Given the description of an element on the screen output the (x, y) to click on. 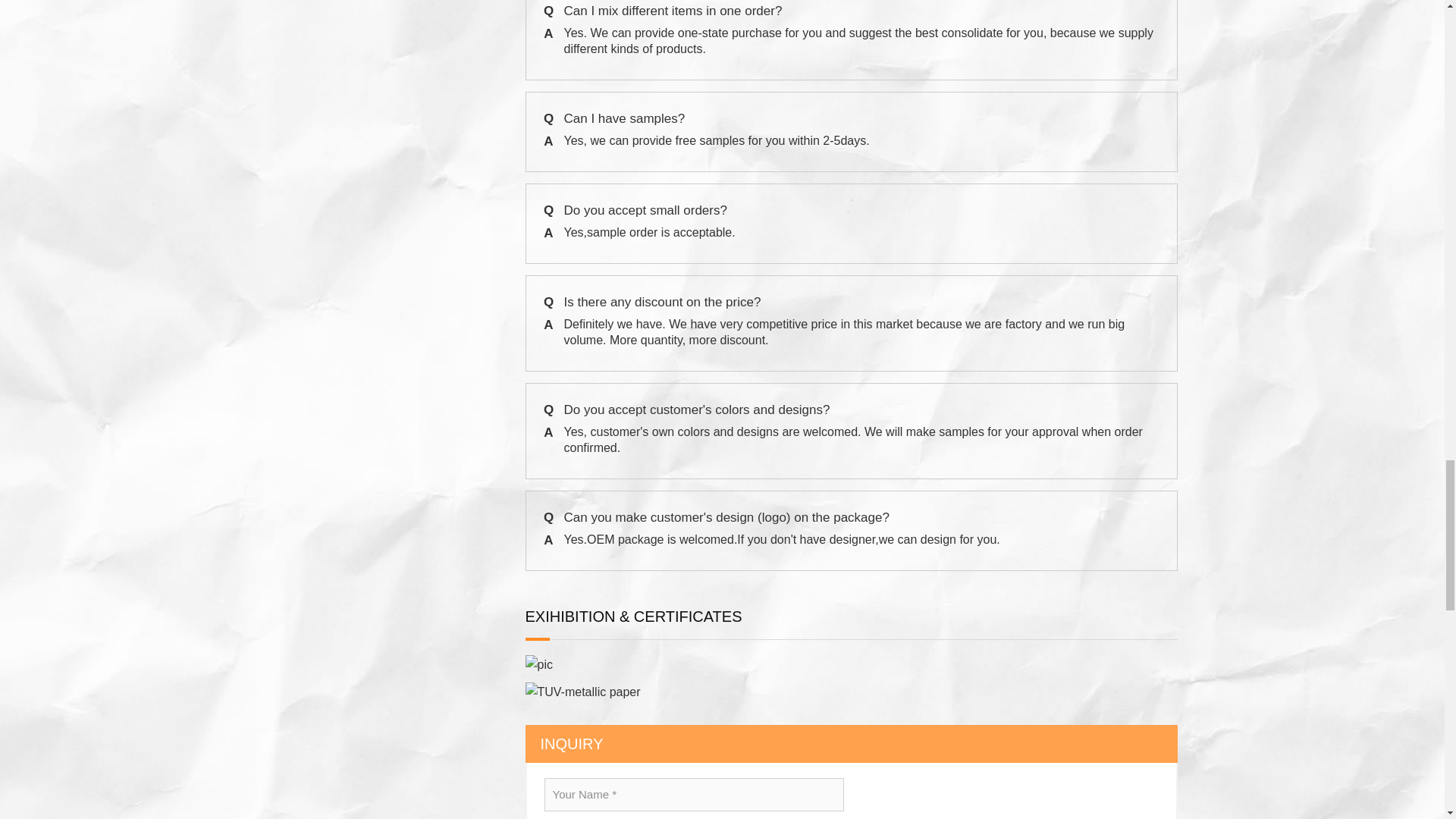
TUV-metallic paper (582, 691)
pic (537, 664)
